Given the description of an element on the screen output the (x, y) to click on. 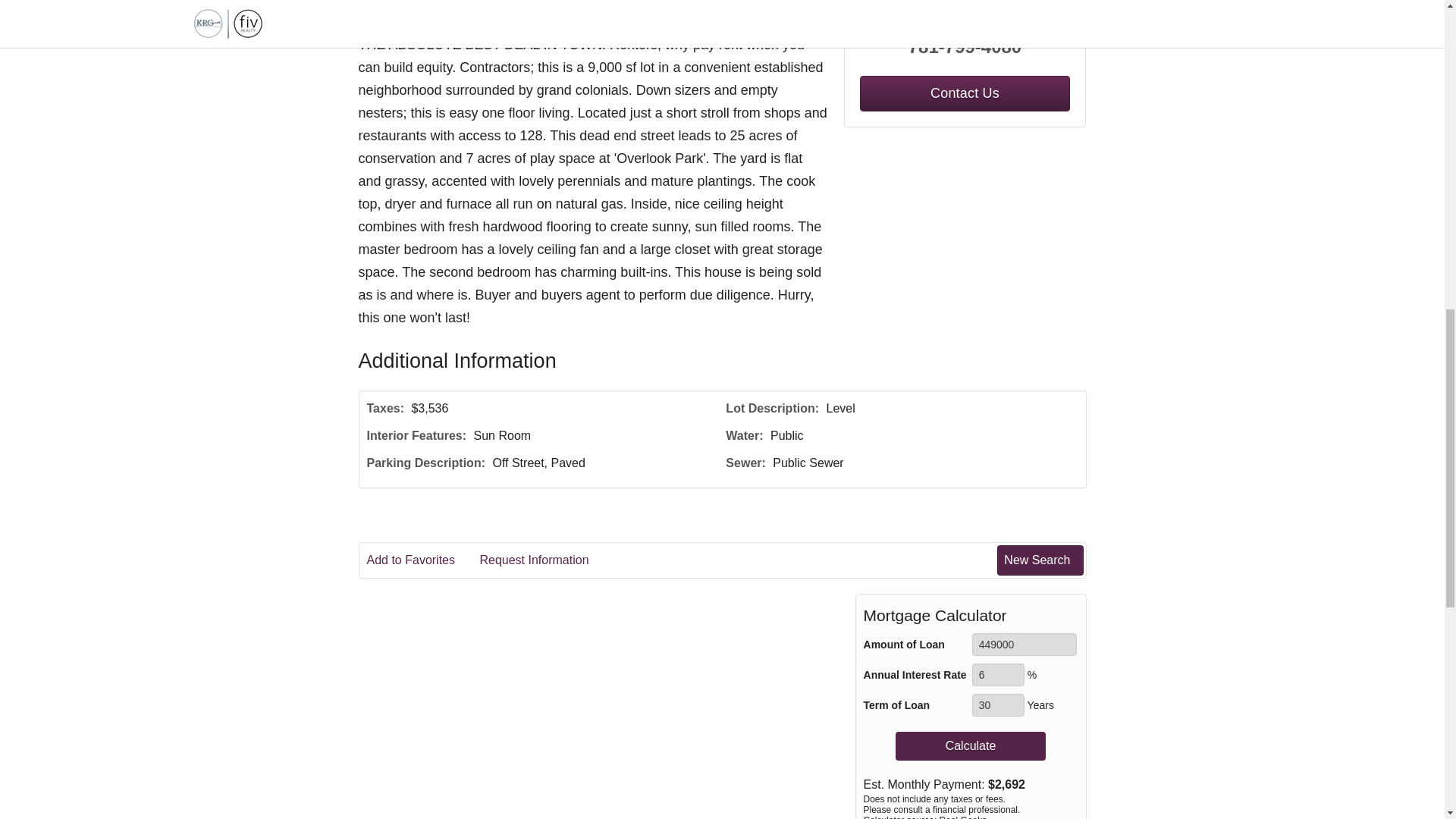
30 (998, 704)
6 (998, 674)
449000 (1024, 644)
